Given the description of an element on the screen output the (x, y) to click on. 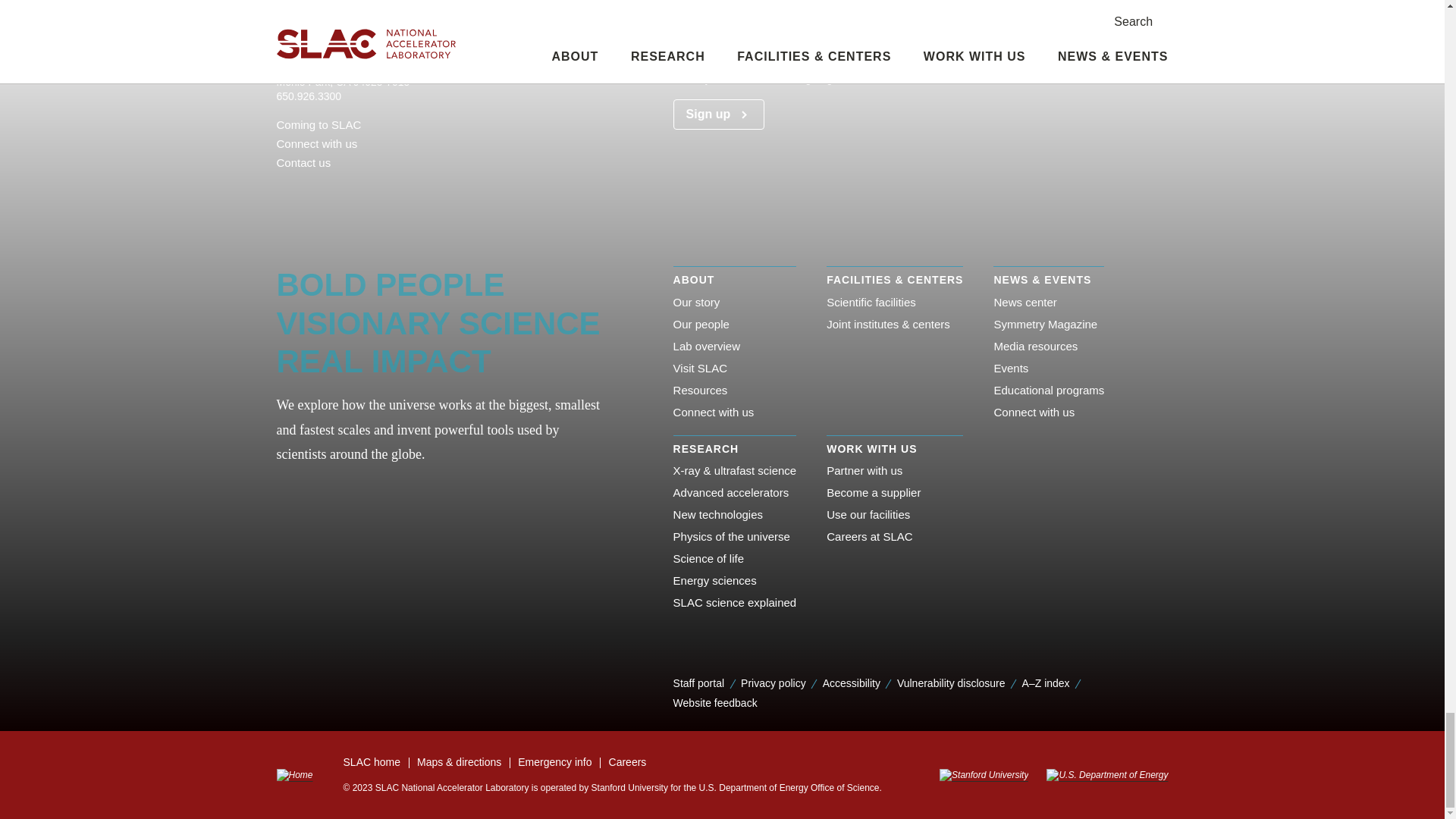
Facebook (282, 190)
Instagram (330, 190)
U.S. Department of Energy (1101, 774)
Flickr (306, 190)
Twitter (378, 190)
Stanford University (983, 774)
LinkedIn (355, 190)
YouTube (403, 190)
Home (294, 774)
